Given the description of an element on the screen output the (x, y) to click on. 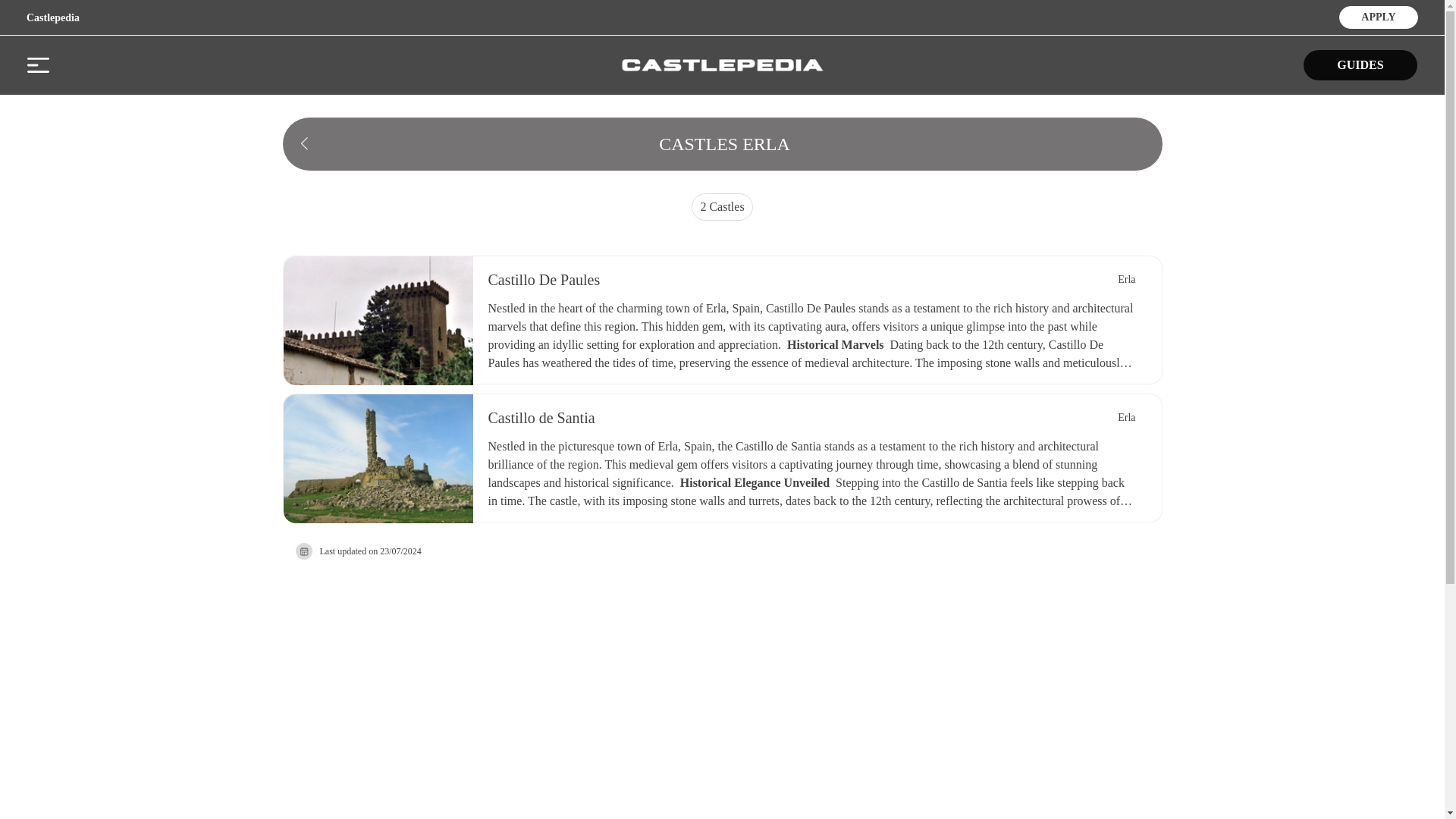
APPLY (1377, 15)
GUIDES (1359, 64)
Castlepedia (53, 17)
